Given the description of an element on the screen output the (x, y) to click on. 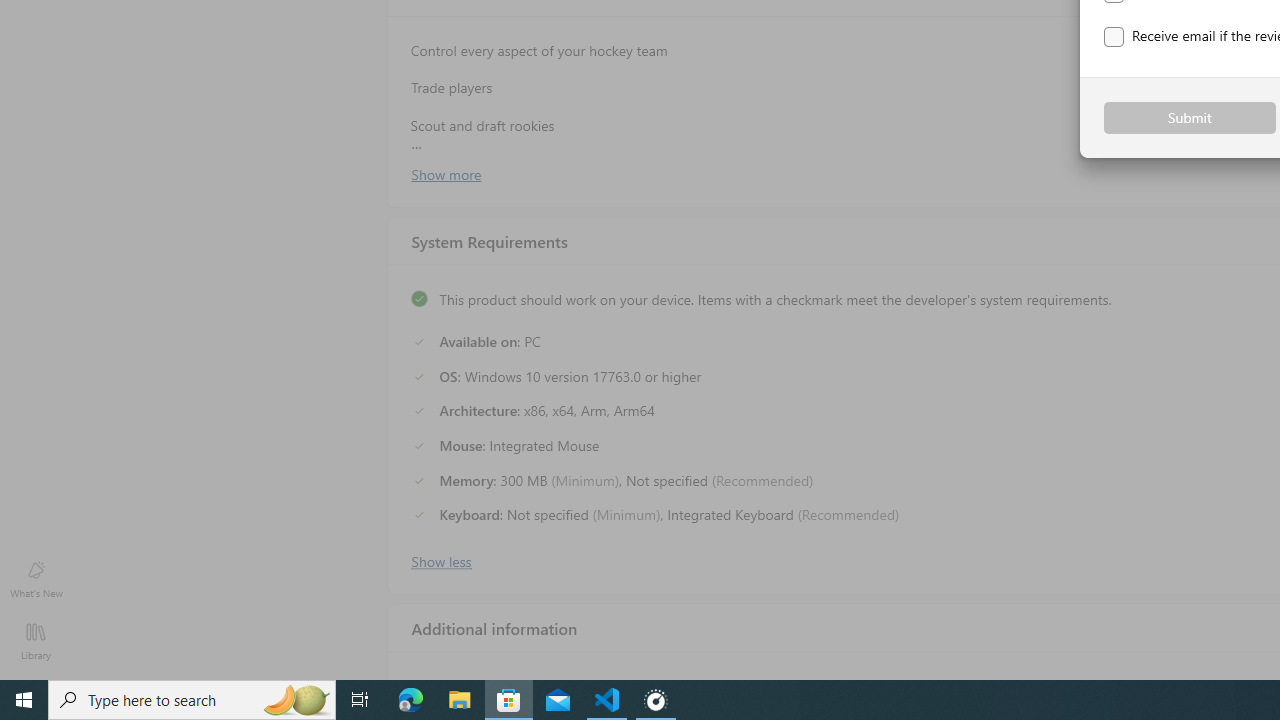
Submit (1189, 117)
Show more (445, 173)
What's New (35, 578)
Show less (440, 559)
Library (35, 640)
